Given the description of an element on the screen output the (x, y) to click on. 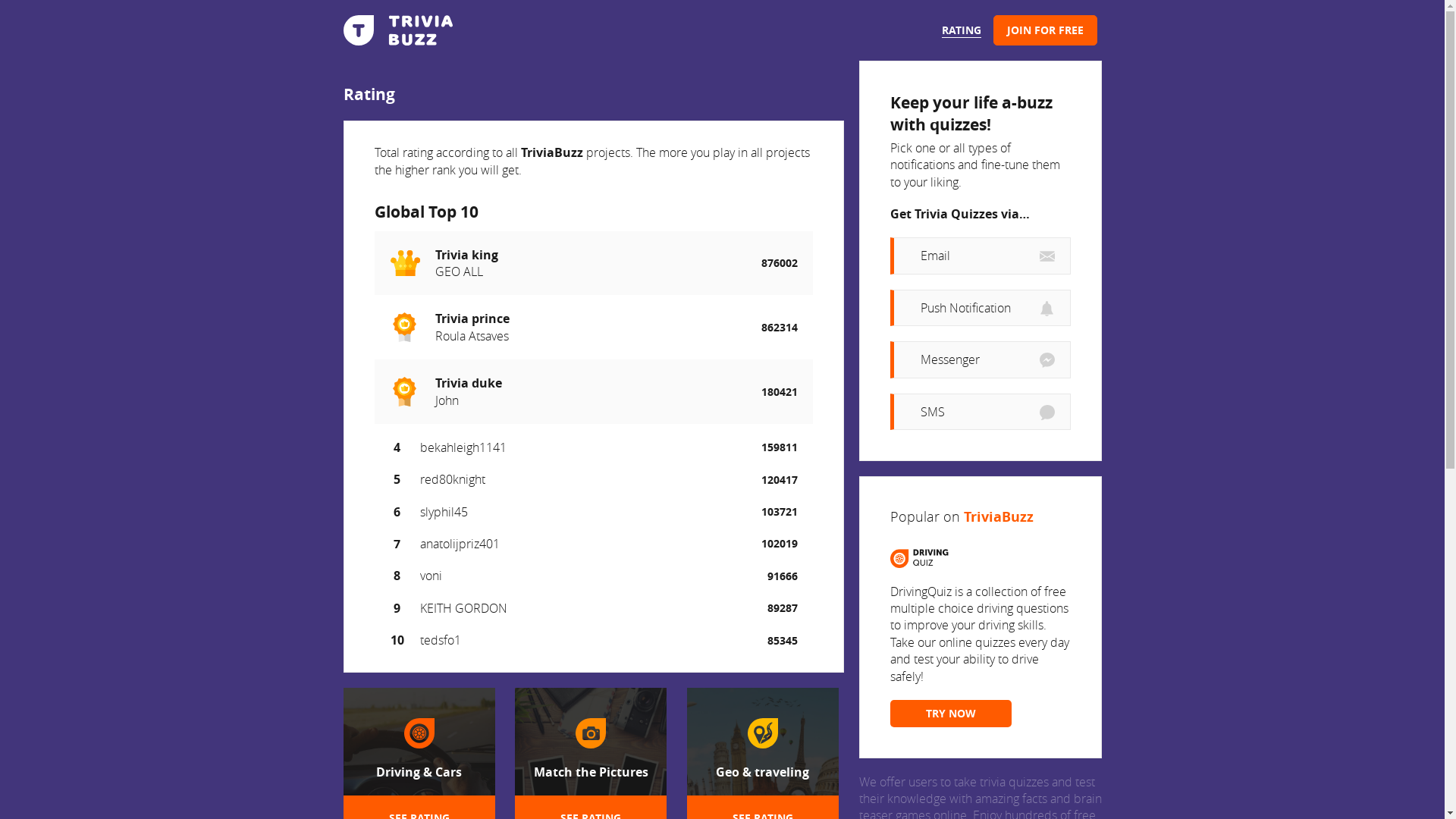
Email Element type: text (980, 255)
TRY NOW Element type: text (950, 713)
SMS Element type: text (980, 411)
JOIN FOR FREE Element type: text (1045, 30)
Push Notification Element type: text (980, 307)
RATING Element type: text (961, 30)
Messenger Element type: text (980, 359)
